Given the description of an element on the screen output the (x, y) to click on. 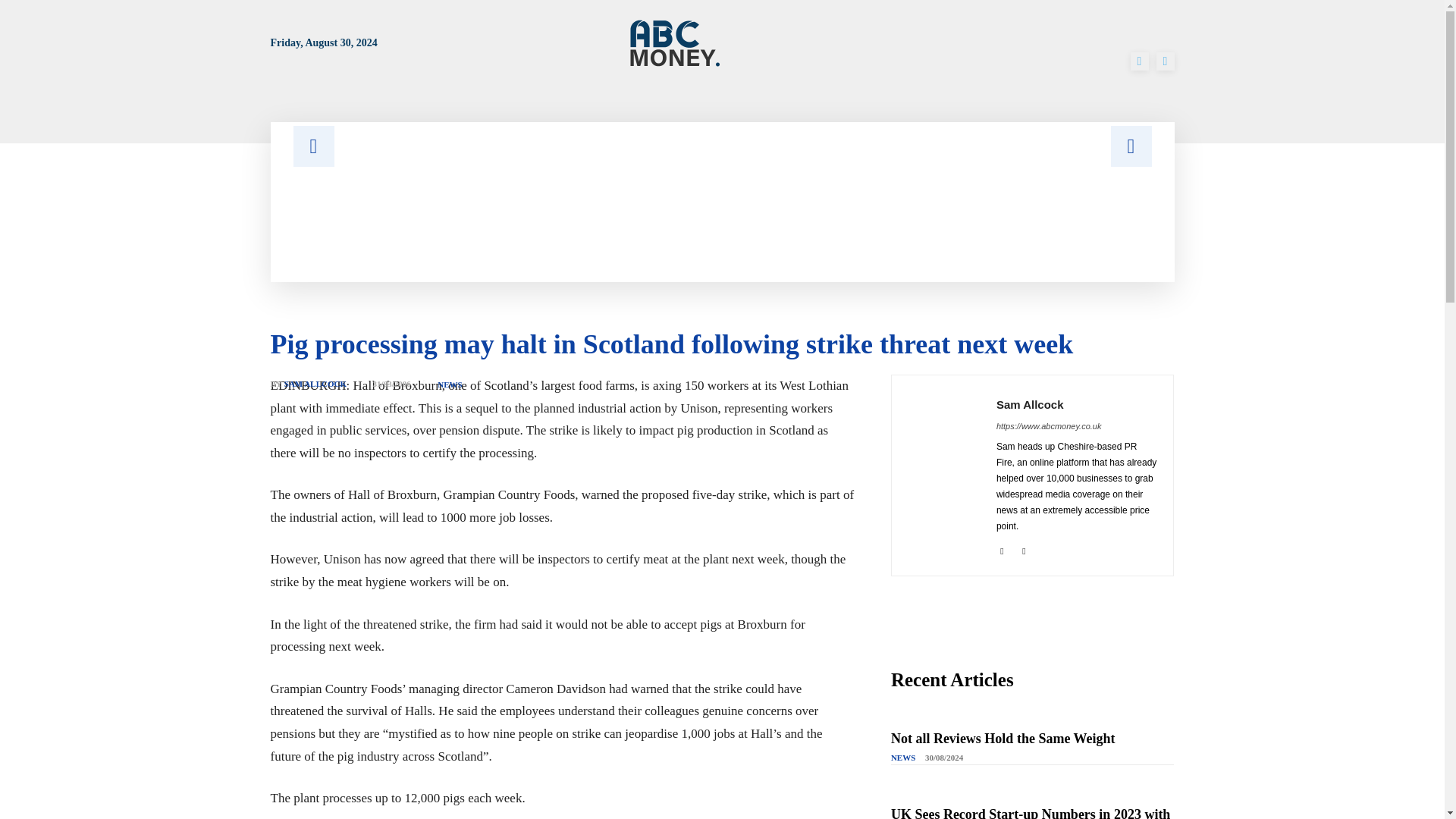
Facebook (1138, 60)
NEWS (449, 384)
SAM ALLCOCK (314, 384)
Linkedin (1001, 548)
Twitter (1023, 548)
Sam Allcock (1076, 404)
Twitter (1164, 60)
Not all Reviews Hold the Same Weight (1003, 738)
